Given the description of an element on the screen output the (x, y) to click on. 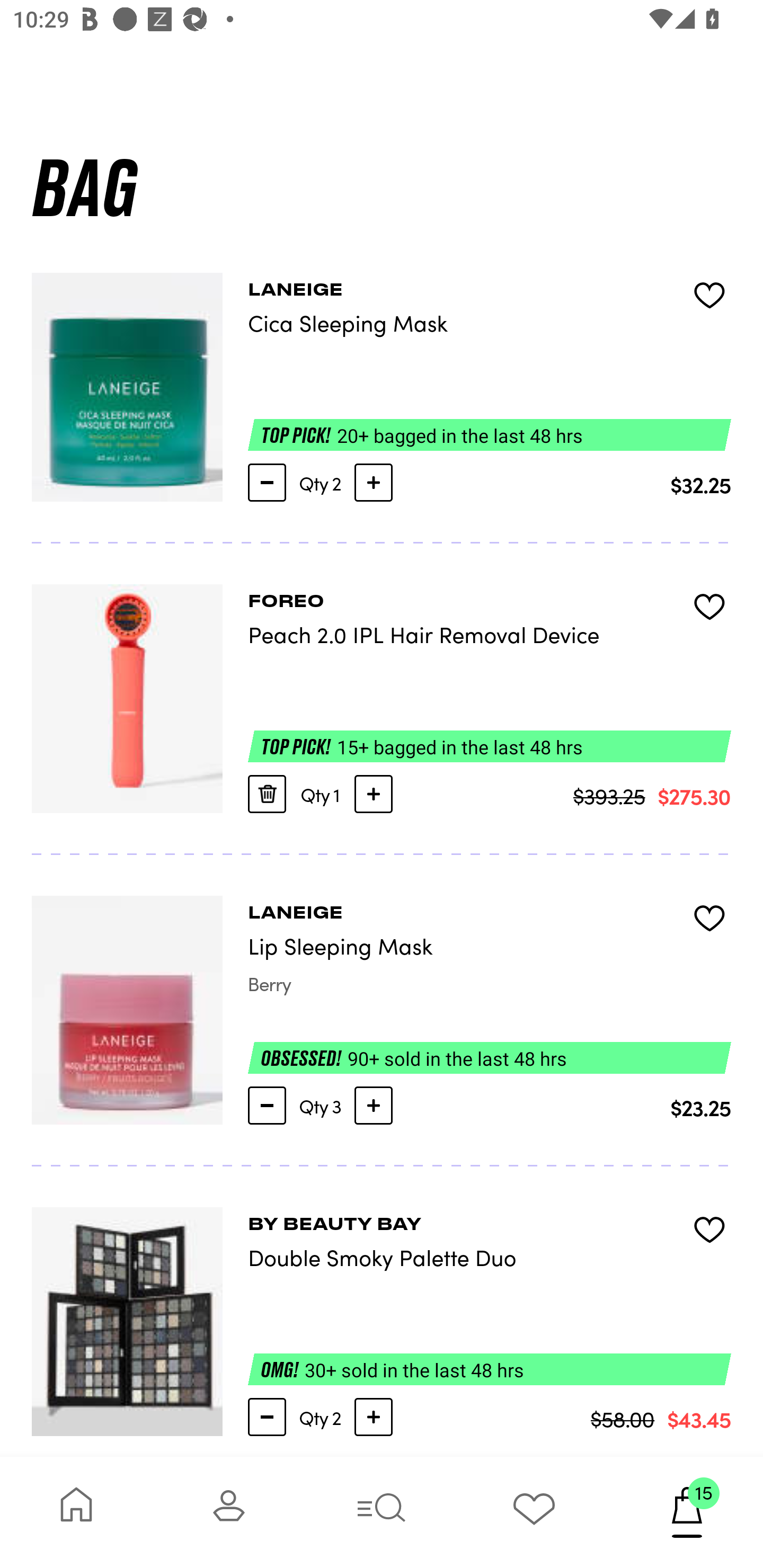
15 (686, 1512)
